Given the description of an element on the screen output the (x, y) to click on. 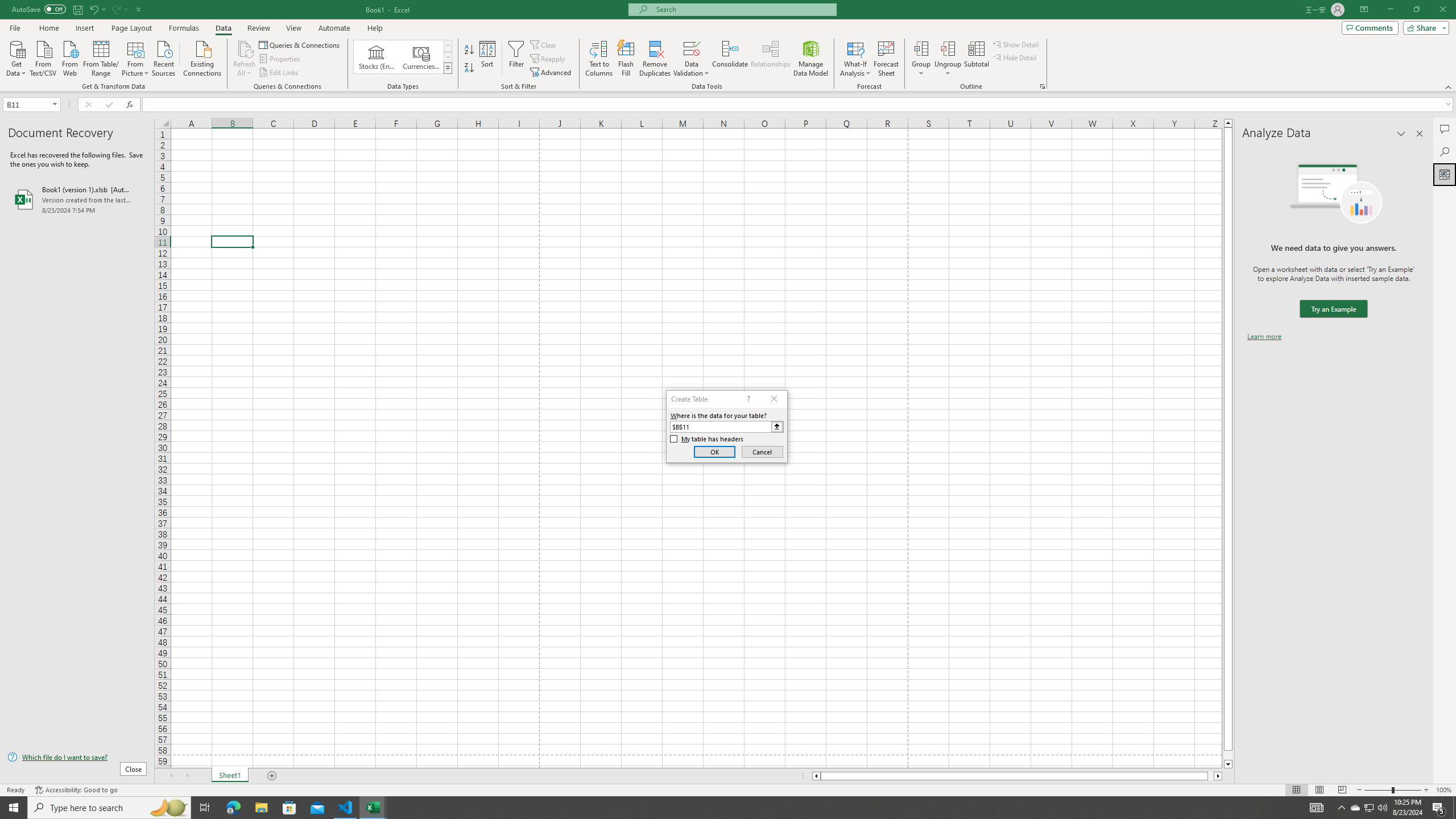
Learn more (1264, 336)
